Given the description of an element on the screen output the (x, y) to click on. 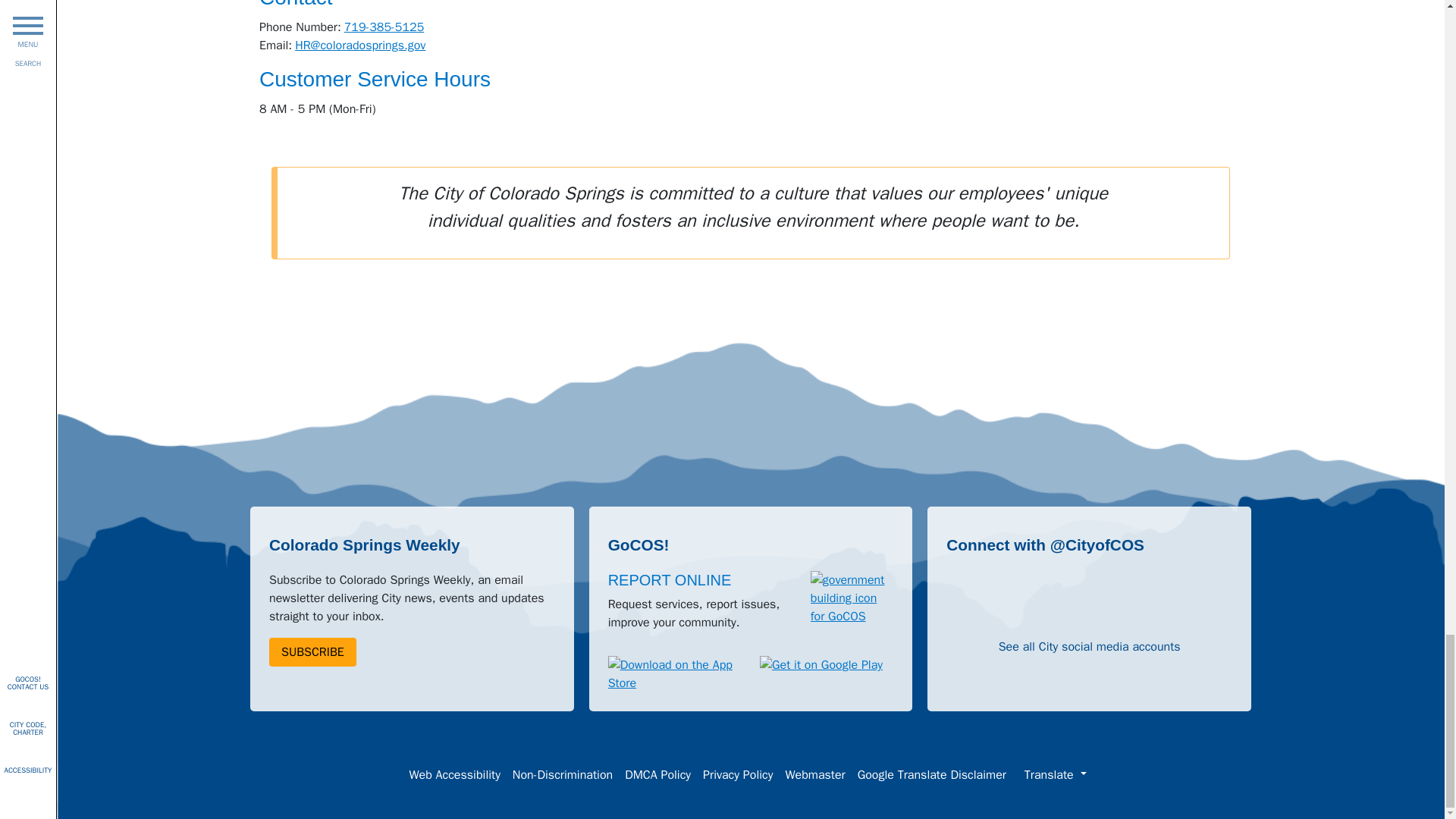
SUBSCRIBE (312, 652)
See all City social media accounts (1089, 646)
Web Accessibility (454, 775)
Non-Discrimination (562, 775)
719-385-5125 (384, 27)
